Given the description of an element on the screen output the (x, y) to click on. 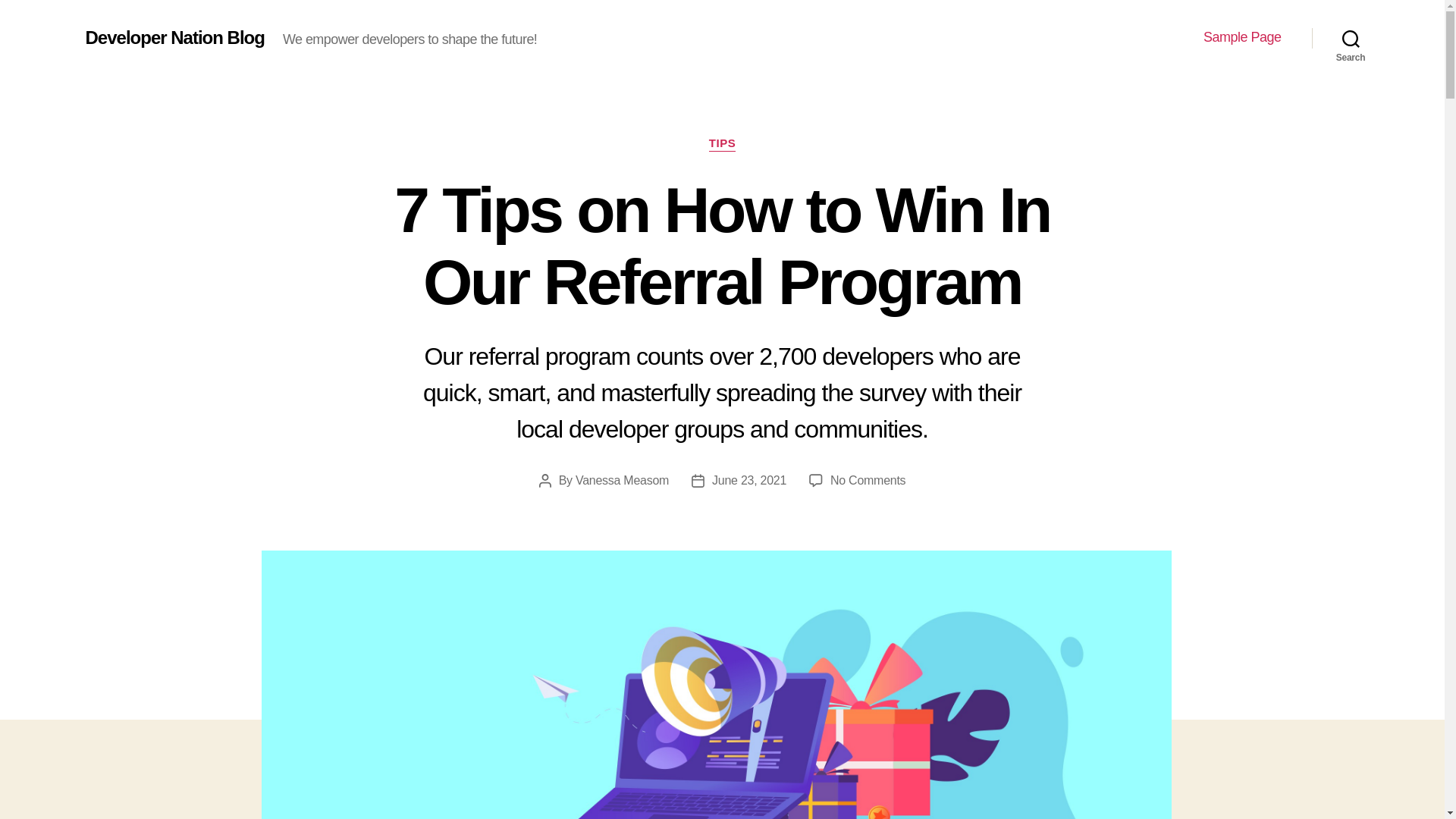
Search (1350, 37)
June 23, 2021 (748, 480)
Developer Nation Blog (173, 37)
TIPS (722, 143)
Vanessa Measom (867, 480)
Sample Page (621, 480)
